Given the description of an element on the screen output the (x, y) to click on. 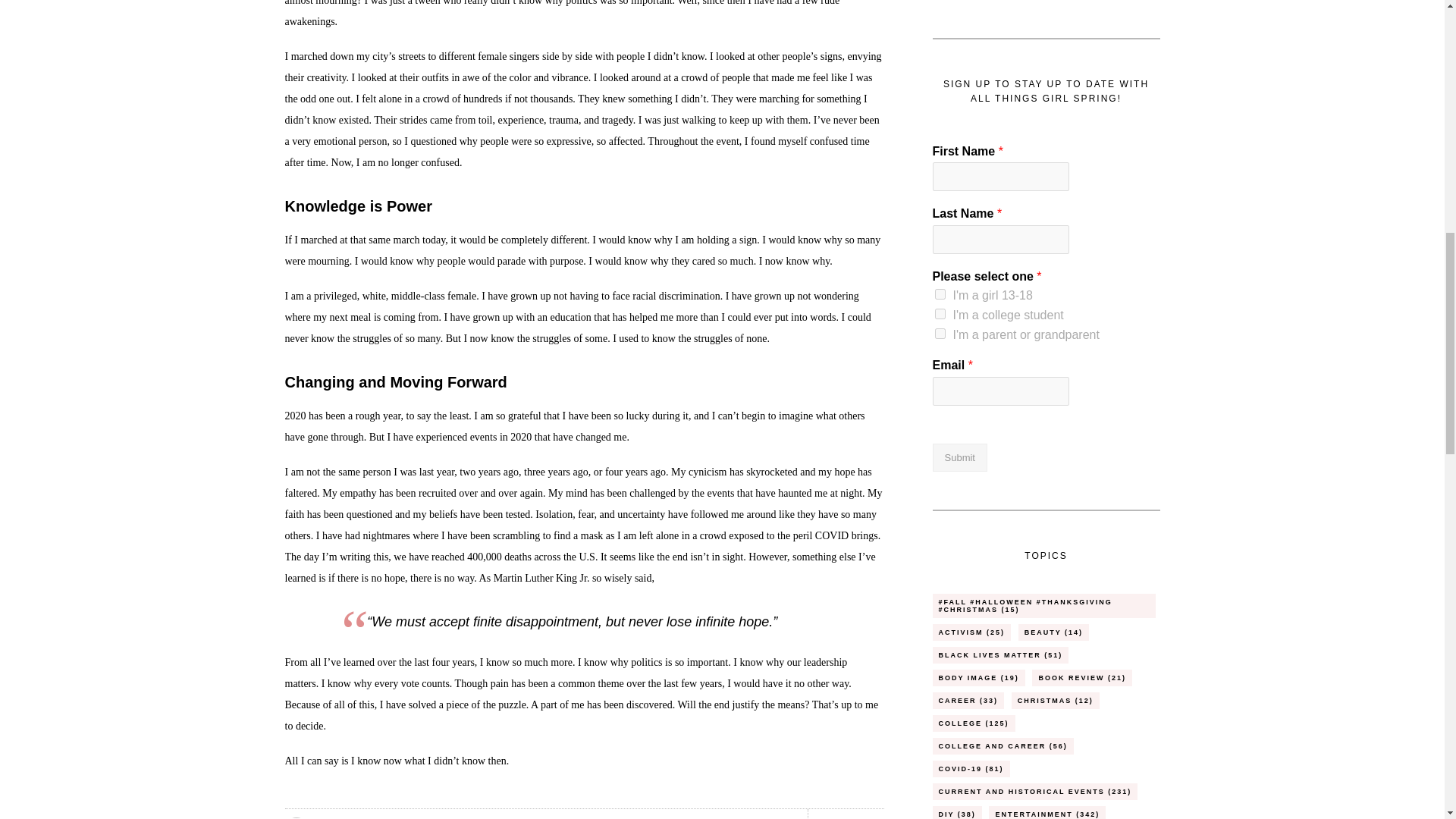
I'm a girl 13-18 (939, 294)
I'm a parent or grandparent (939, 333)
I'm a college student  (939, 313)
